Given the description of an element on the screen output the (x, y) to click on. 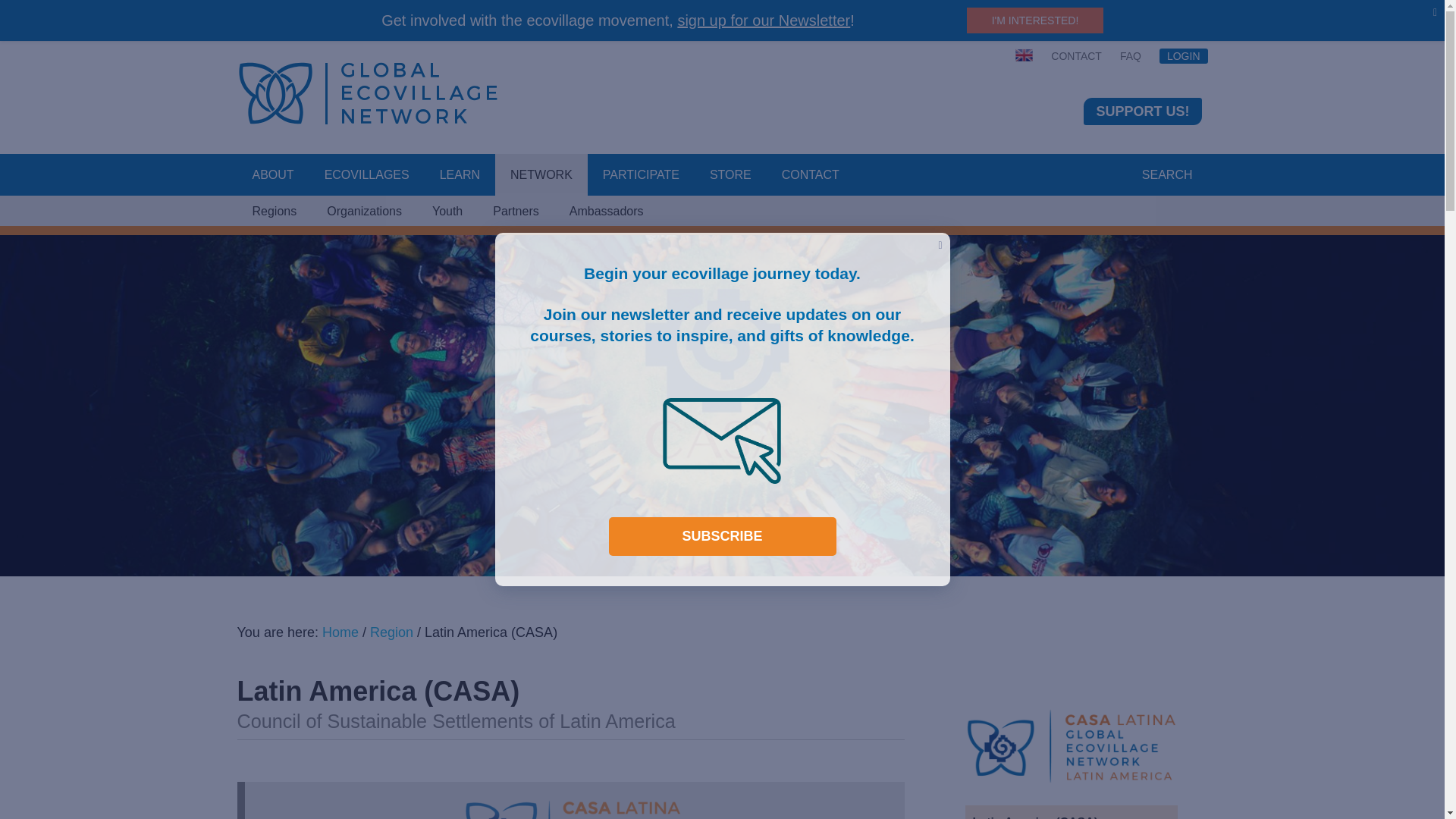
Home (339, 631)
SEARCH (1167, 174)
PARTICIPATE (641, 174)
ABOUT (271, 174)
LOGIN (1179, 56)
Ambassadors (606, 211)
Region (391, 631)
Organizations (363, 211)
ECOVILLAGES (366, 174)
CONTACT (810, 174)
FAQ (1130, 56)
NETWORK (541, 174)
SUPPORT US! (1142, 111)
